Given the description of an element on the screen output the (x, y) to click on. 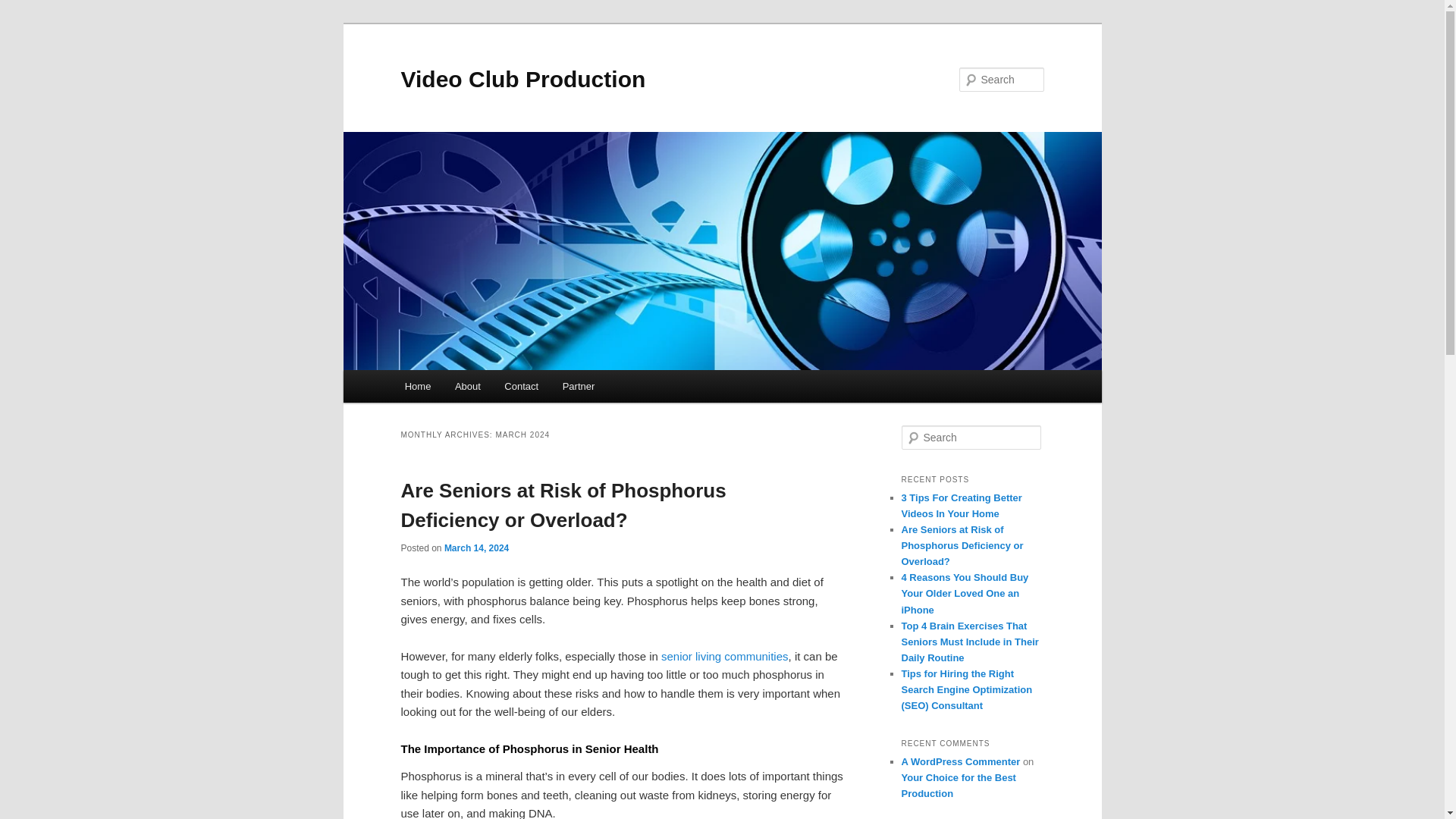
4 Reasons You Should Buy Your Older Loved One an iPhone (964, 593)
Contact (521, 386)
Partner (578, 386)
10:15 am (476, 547)
Search (24, 8)
Are Seniors at Risk of Phosphorus Deficiency or Overload? (962, 545)
3 Tips For Creating Better Videos In Your Home (961, 505)
senior living communities (725, 656)
Search (21, 11)
March 14, 2024 (476, 547)
A WordPress Commenter (960, 761)
About (467, 386)
Are Seniors at Risk of Phosphorus Deficiency or Overload? (562, 505)
